Given the description of an element on the screen output the (x, y) to click on. 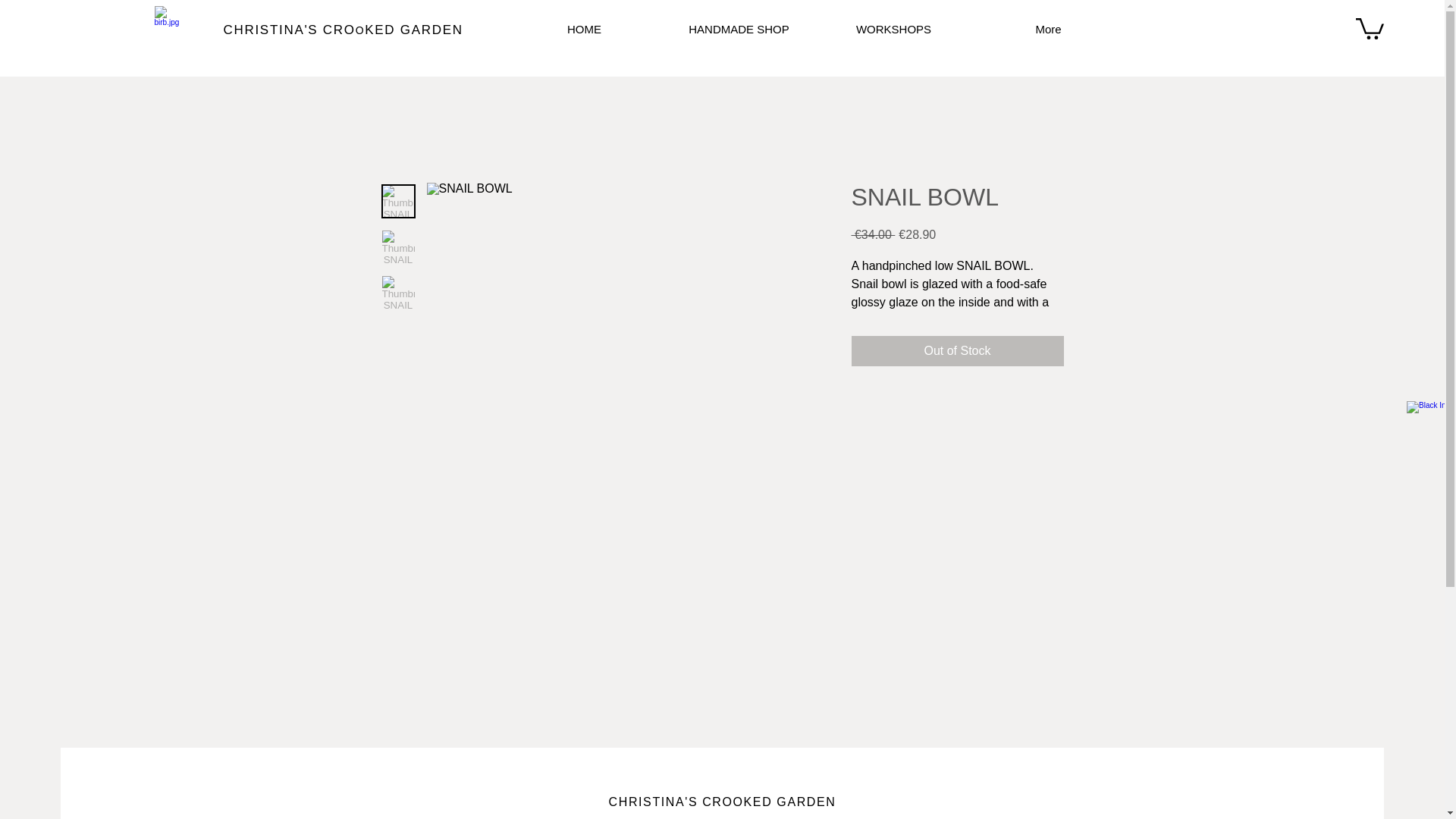
Out of Stock (956, 350)
WORKSHOPS (893, 29)
HOME (583, 29)
CHRISTINA'S CROOKED GARDEN (342, 29)
